Given the description of an element on the screen output the (x, y) to click on. 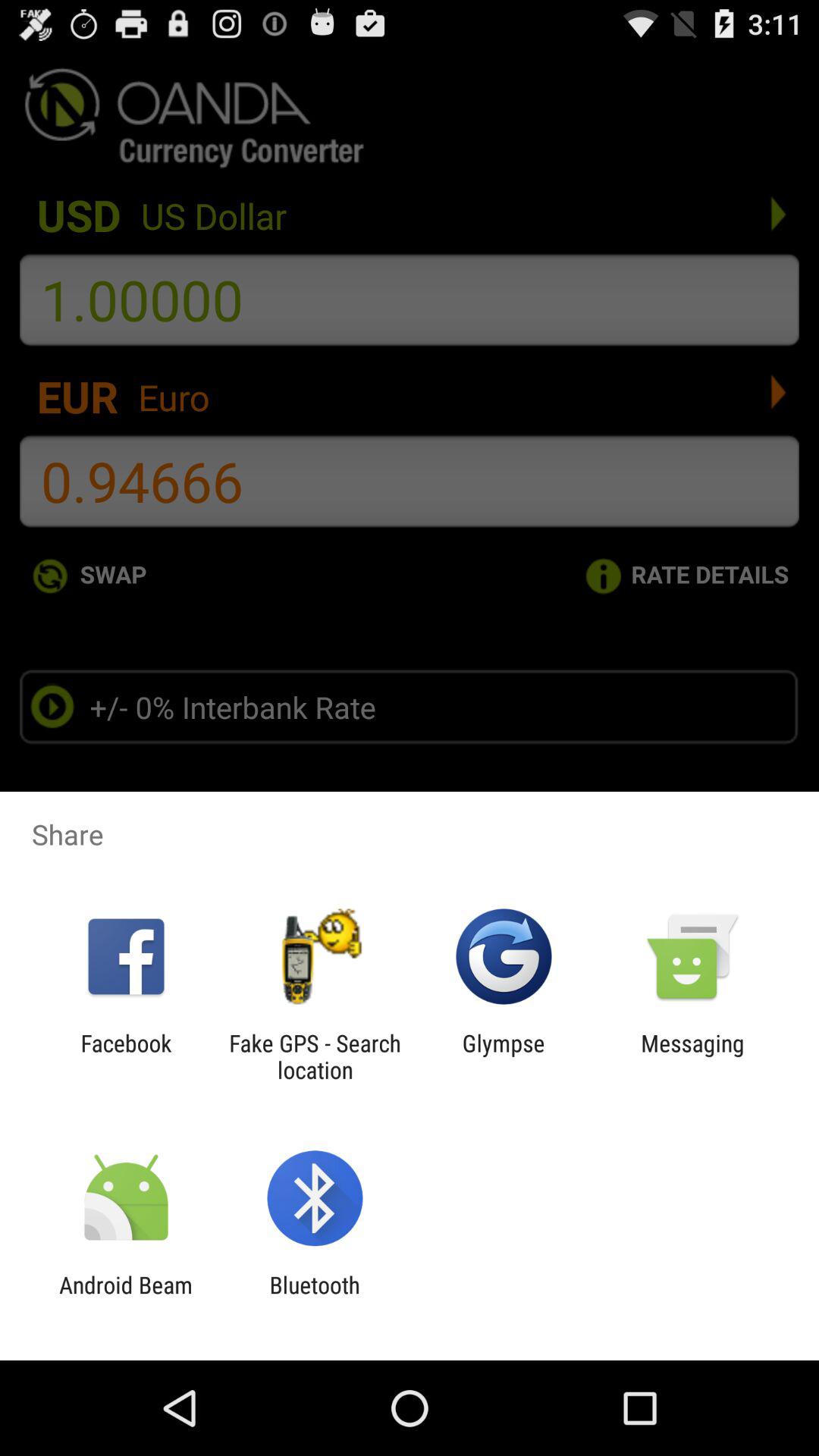
click android beam icon (125, 1298)
